Given the description of an element on the screen output the (x, y) to click on. 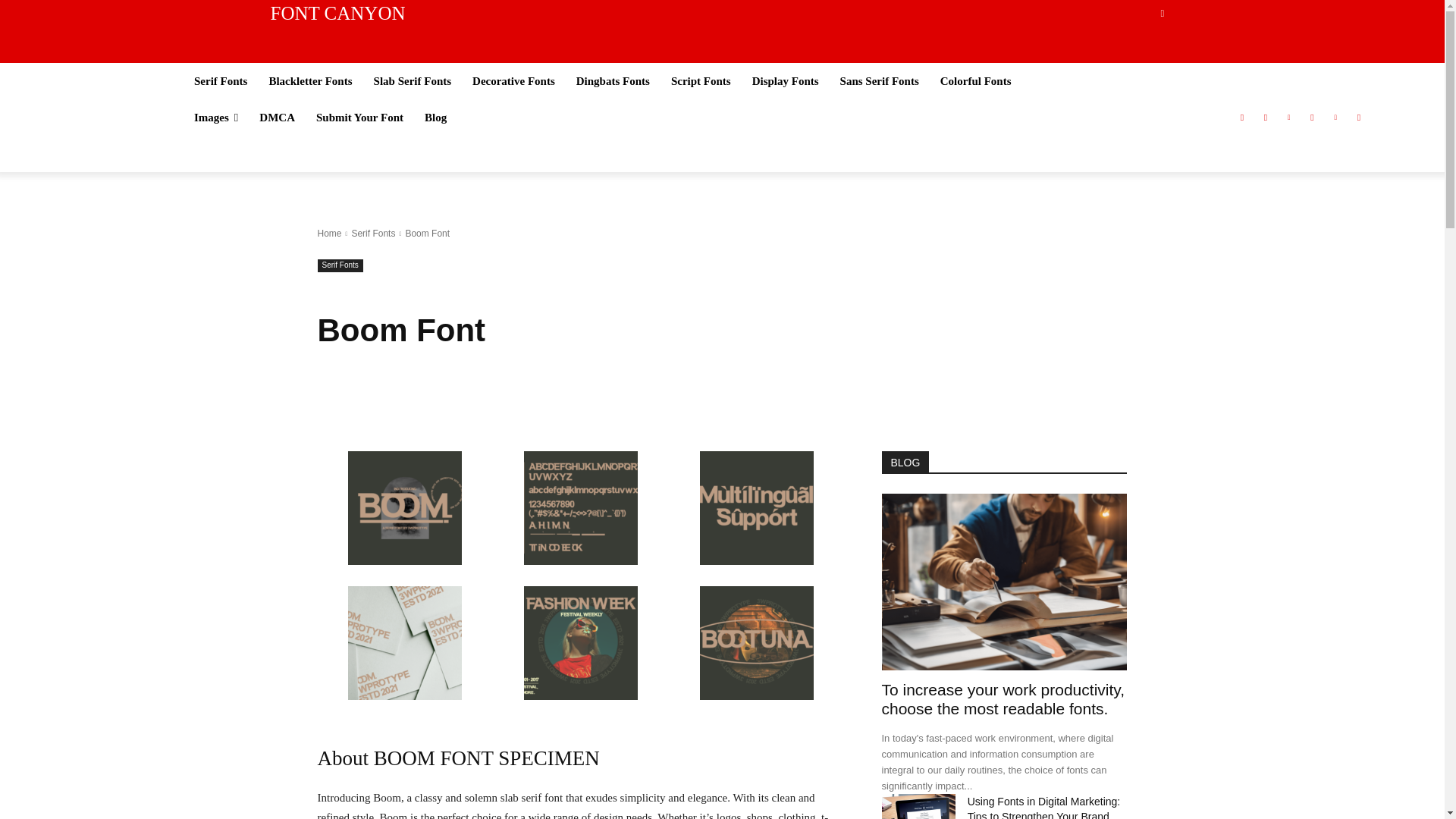
Youtube (1359, 117)
Slab Serif Fonts (412, 81)
Instagram (1265, 117)
FONT CANYON (627, 13)
Blackletter Fonts (309, 81)
Colorful Fonts (975, 81)
Pinterest (1288, 117)
Sans Serif Fonts (879, 81)
Vimeo (1334, 117)
Submit Your Font (359, 117)
